Given the description of an element on the screen output the (x, y) to click on. 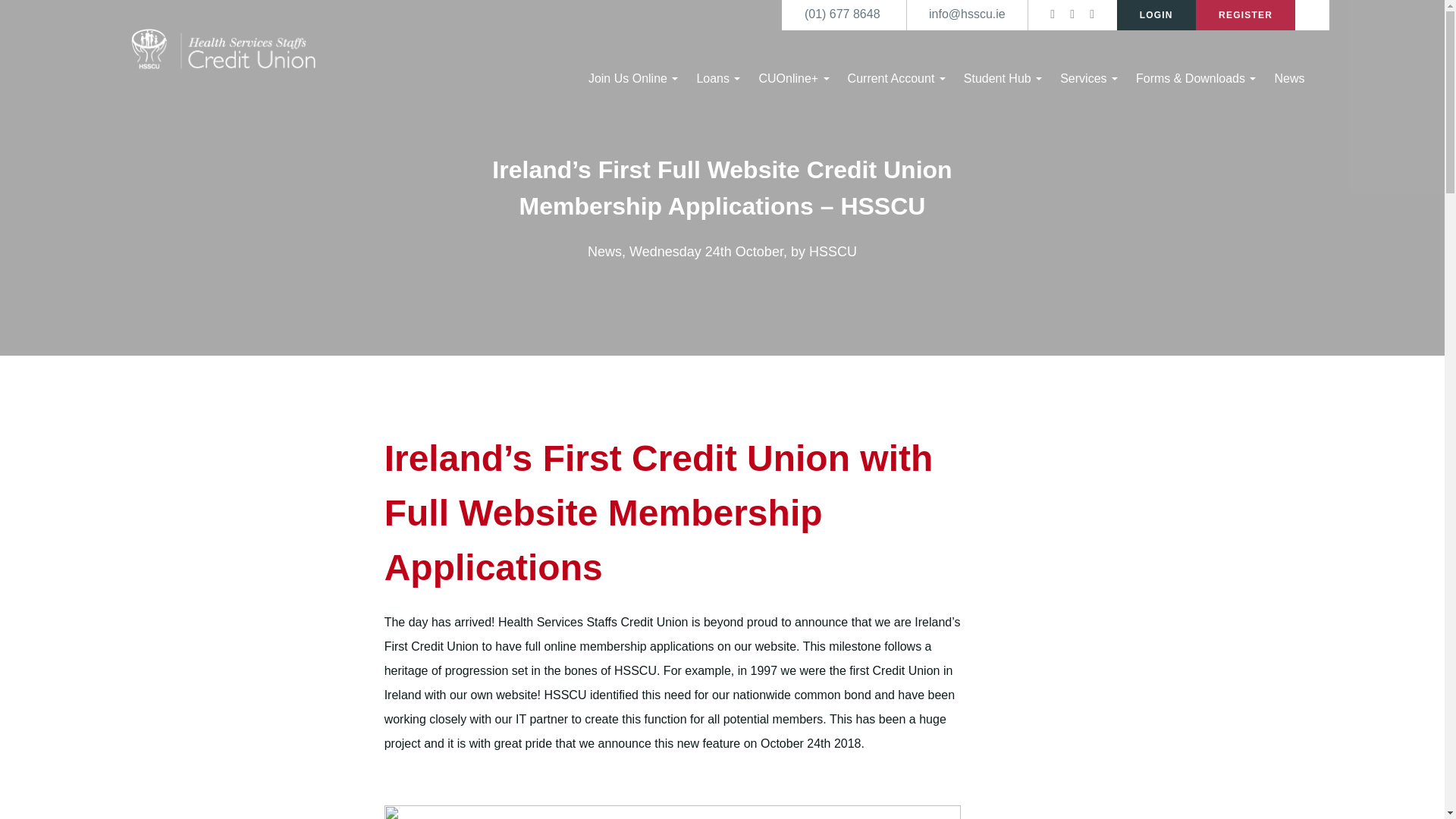
Loans (717, 78)
search (1312, 14)
Loans (717, 78)
REGISTER (1245, 15)
LOGIN (1155, 15)
Current Account (895, 78)
Join Us Online (633, 78)
Join Us Online (633, 78)
